Given the description of an element on the screen output the (x, y) to click on. 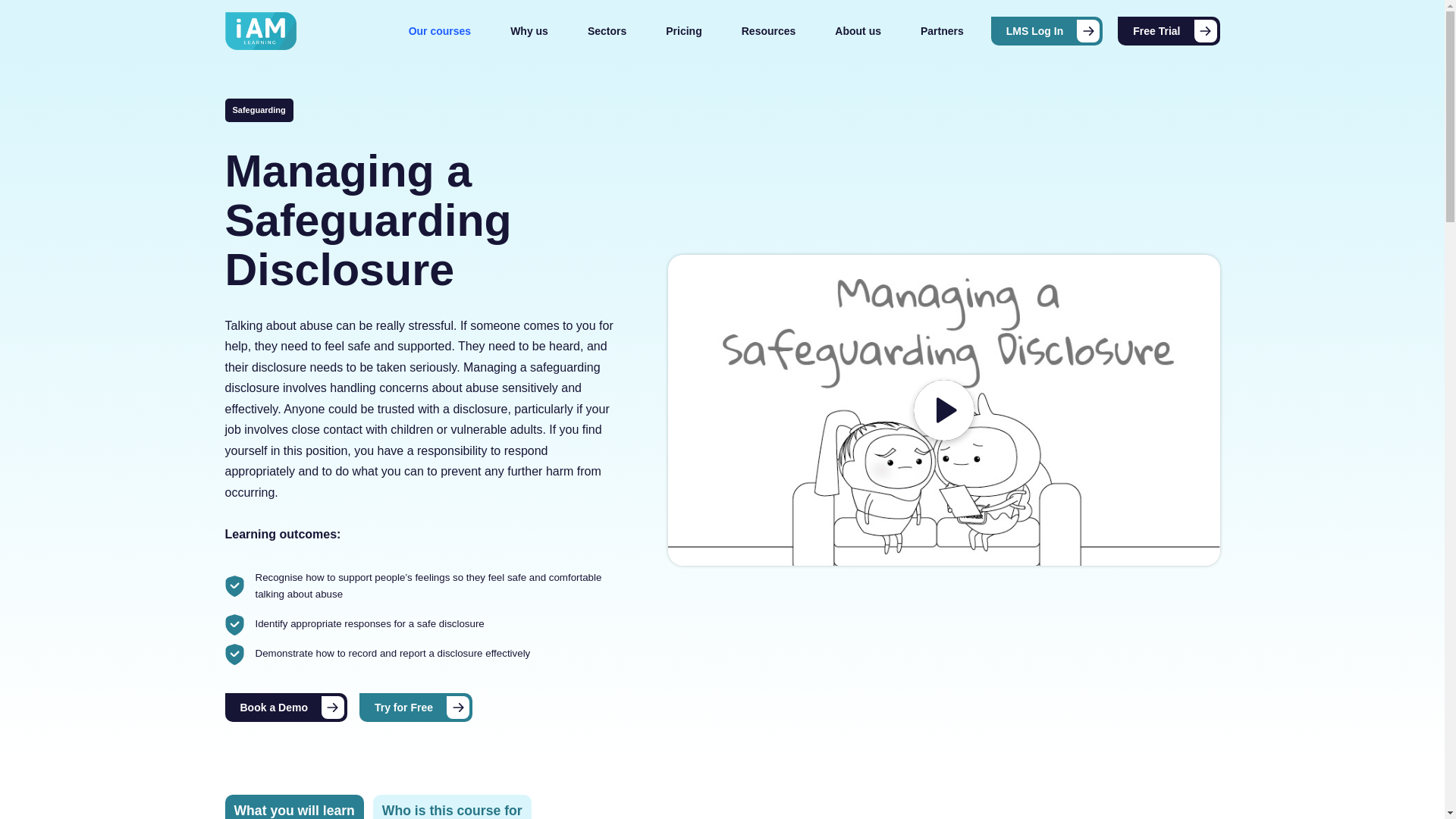
Try for Free (415, 706)
Partners (941, 30)
LMS Log In (1046, 30)
What you will learn (293, 806)
Why us (528, 30)
Free Trial (1169, 30)
Resources (768, 30)
Our courses (439, 30)
Who is this course for (451, 806)
Sectors (607, 30)
